Given the description of an element on the screen output the (x, y) to click on. 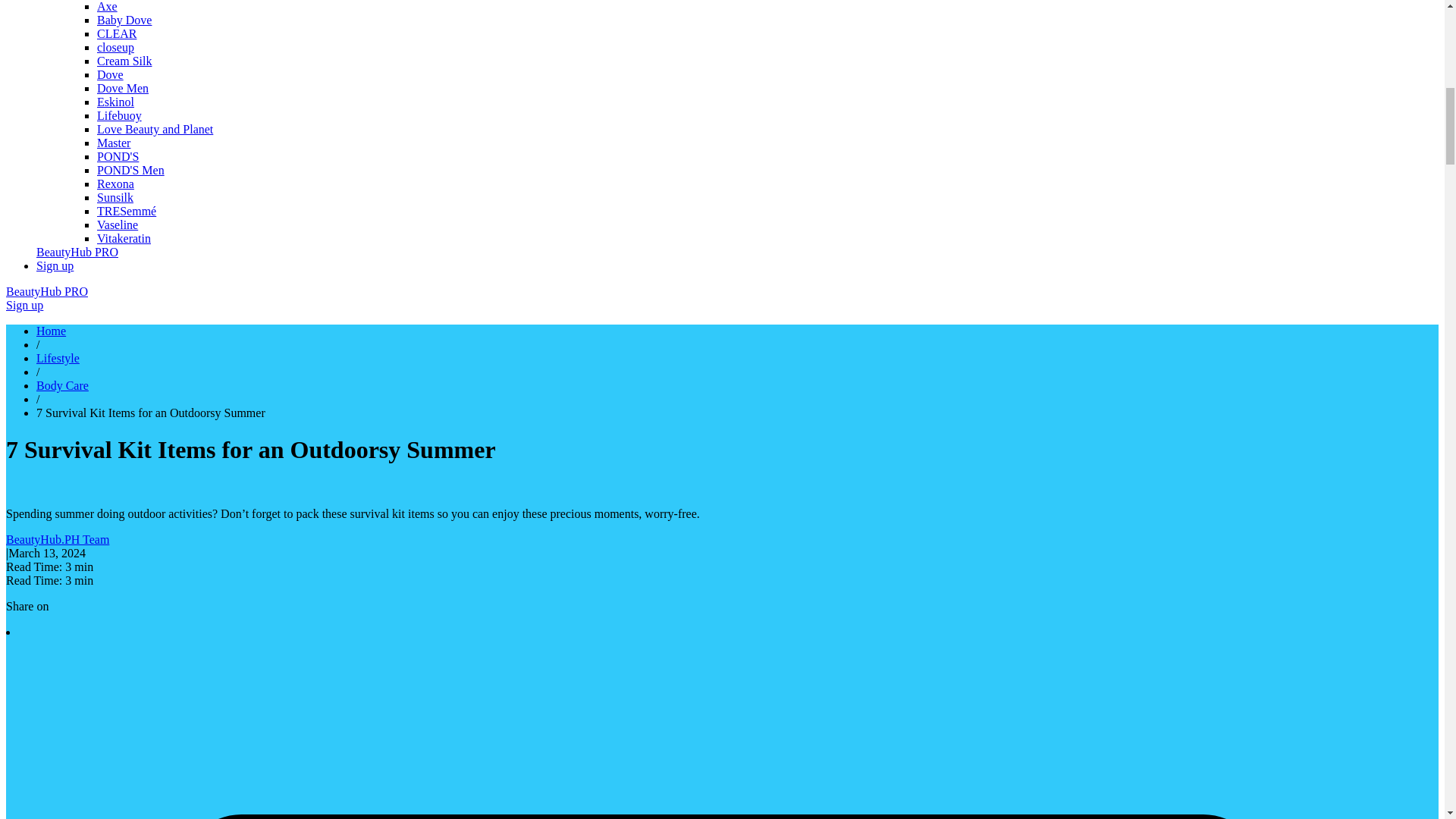
Signup (55, 265)
Sign up (24, 305)
